Given the description of an element on the screen output the (x, y) to click on. 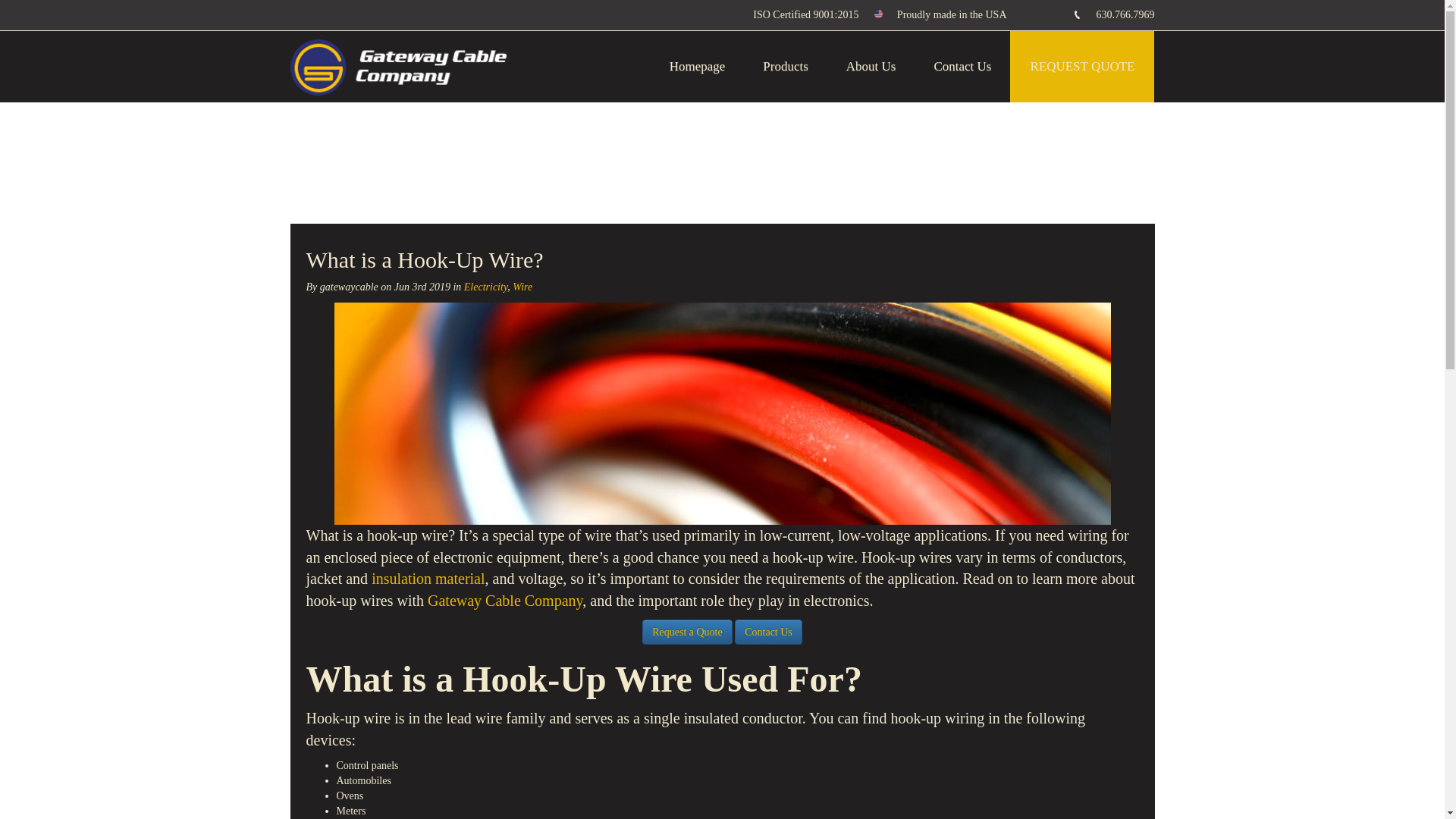
insulation material (427, 578)
Wire (522, 286)
Homepage (697, 66)
Gateway Cable Company (505, 600)
Contact Us (962, 66)
Electricity (486, 286)
About Us (871, 66)
Request a Quote (687, 631)
630.766.7969 (1125, 14)
Products (785, 66)
Contact Us (768, 631)
